Given the description of an element on the screen output the (x, y) to click on. 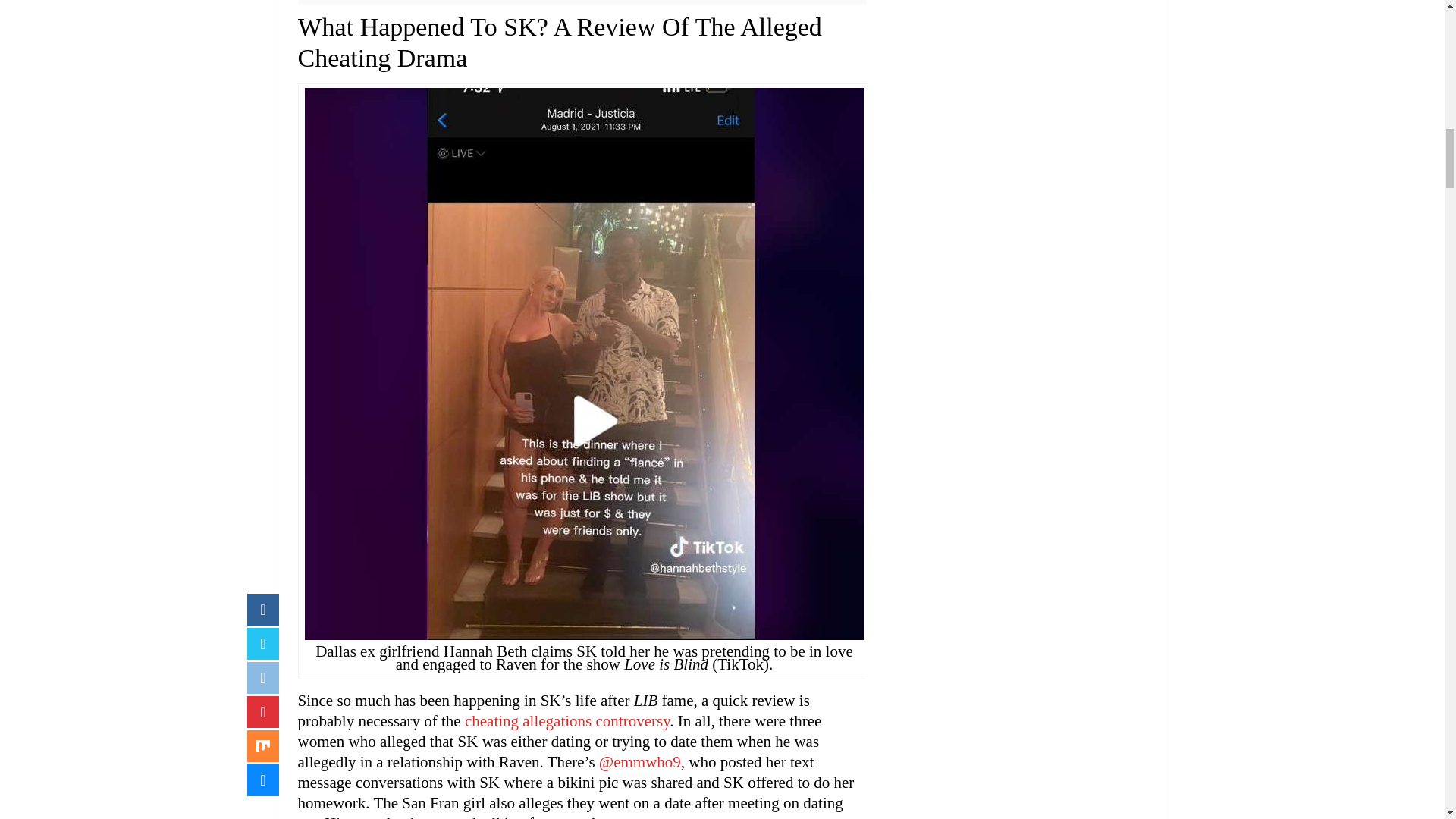
cheating allegations controversy (566, 720)
